Given the description of an element on the screen output the (x, y) to click on. 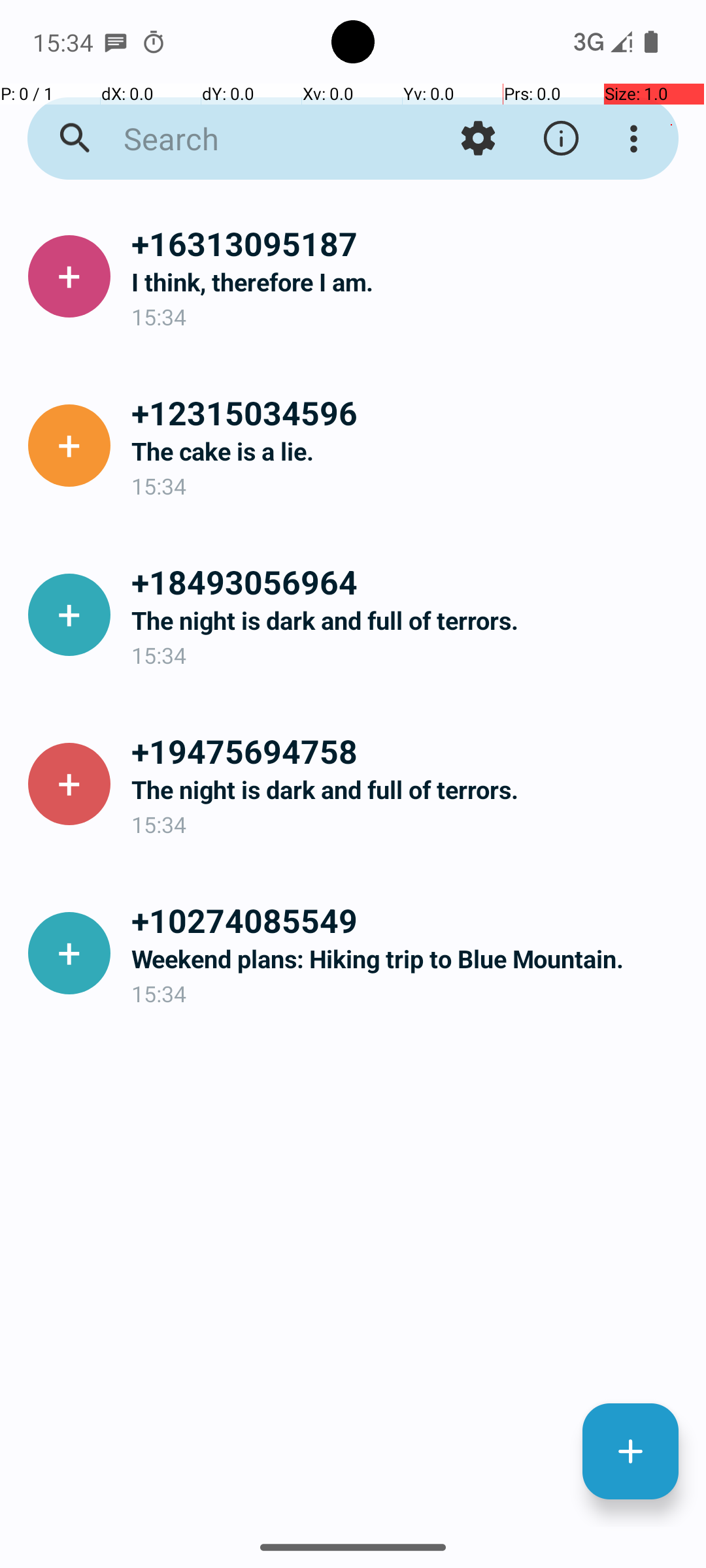
+16313095187 Element type: android.widget.TextView (408, 242)
I think, therefore I am. Element type: android.widget.TextView (408, 281)
+12315034596 Element type: android.widget.TextView (408, 412)
The cake is a lie. Element type: android.widget.TextView (408, 450)
+18493056964 Element type: android.widget.TextView (408, 581)
The night is dark and full of terrors. Element type: android.widget.TextView (408, 620)
+19475694758 Element type: android.widget.TextView (408, 750)
+10274085549 Element type: android.widget.TextView (408, 919)
Weekend plans: Hiking trip to Blue Mountain. Element type: android.widget.TextView (408, 958)
